Given the description of an element on the screen output the (x, y) to click on. 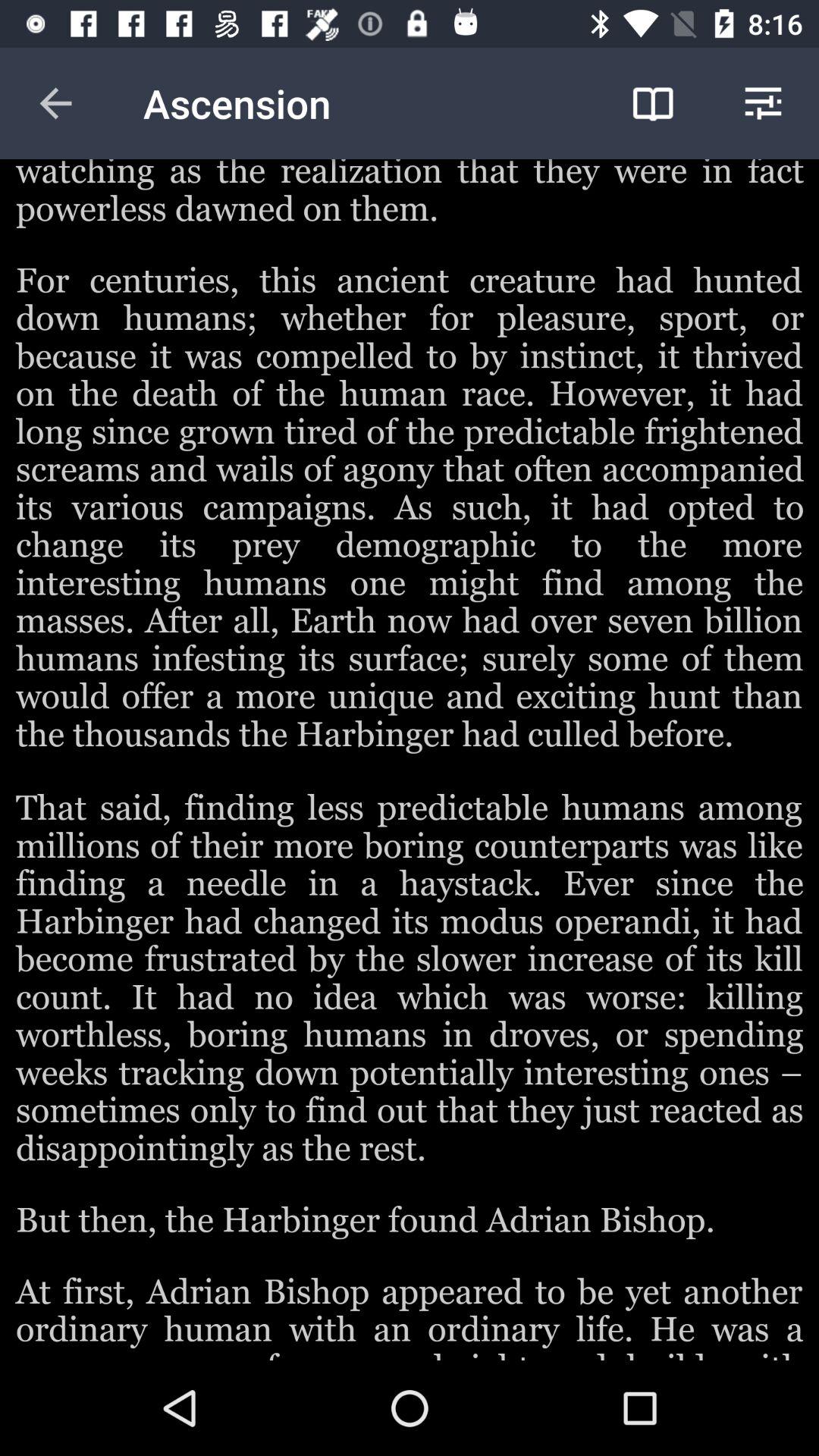
advertisement page (409, 759)
